Given the description of an element on the screen output the (x, y) to click on. 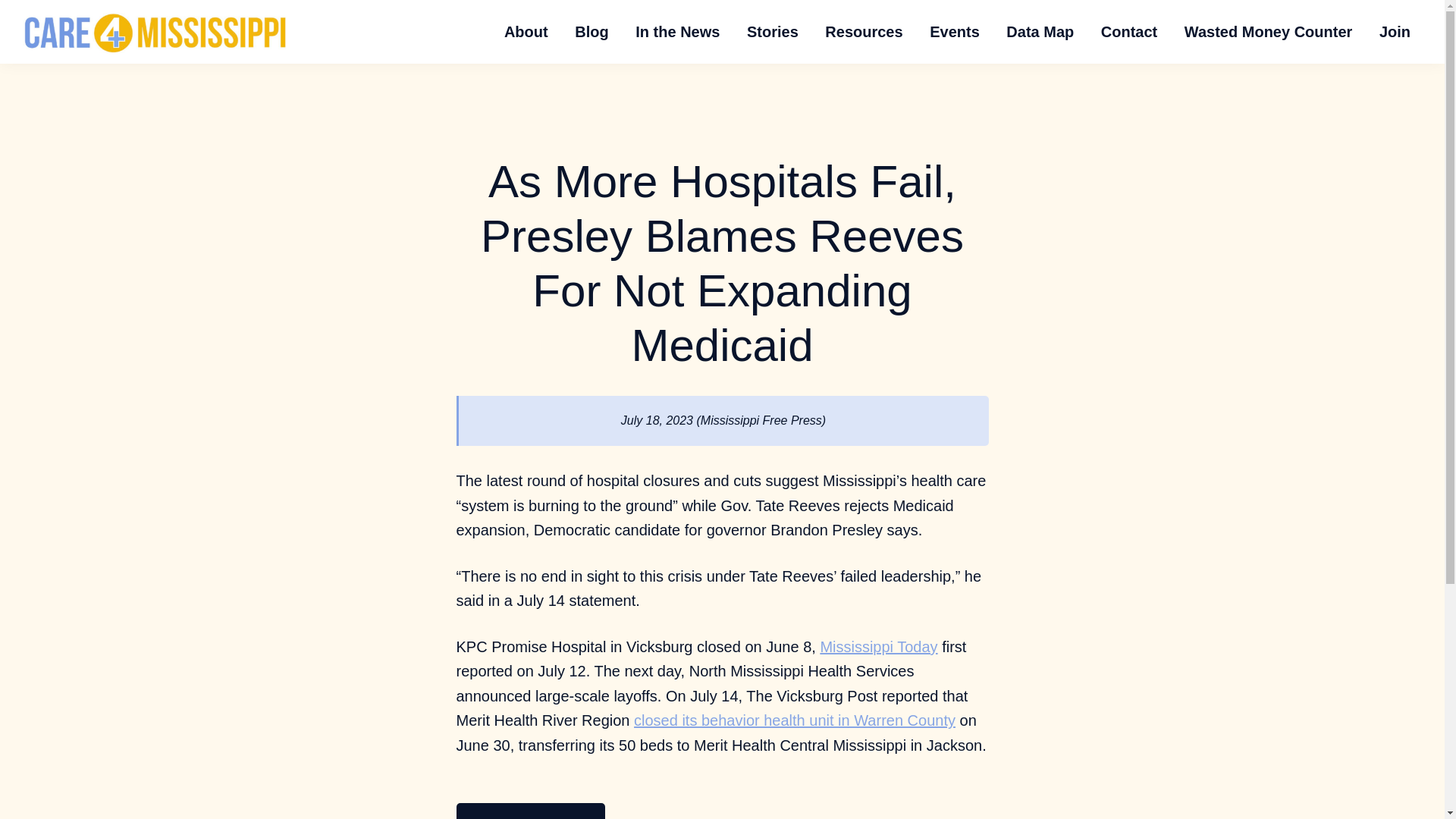
Wasted Money Counter (1268, 31)
Blog (591, 31)
closed its behavior health unit in Warren County (794, 719)
Resources (863, 31)
In the News (677, 31)
Data Map (1039, 31)
Events (954, 31)
Mississippi Today (878, 646)
Join (1395, 31)
